Given the description of an element on the screen output the (x, y) to click on. 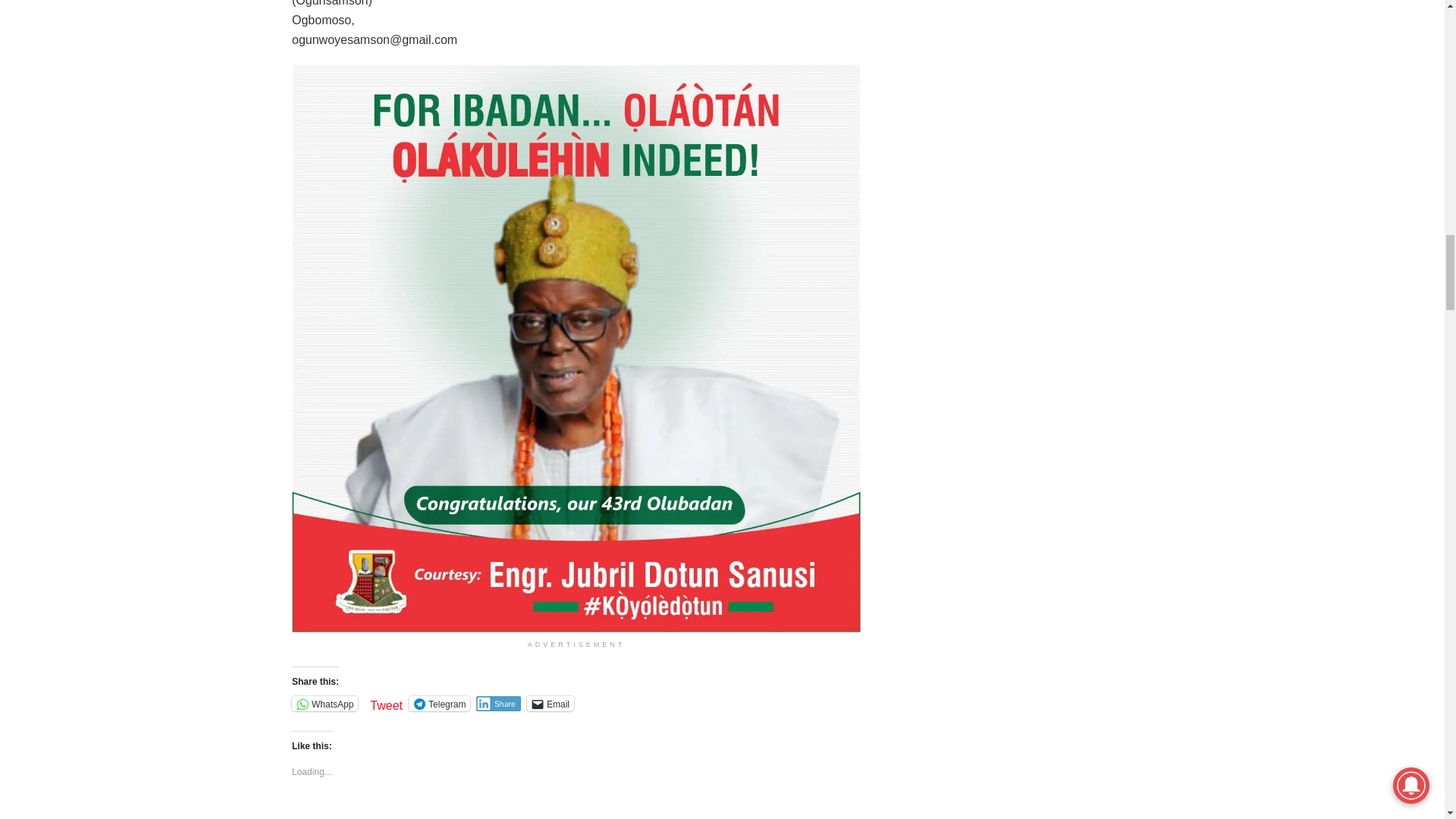
Click to share on WhatsApp (325, 703)
Click to email a link to a friend (550, 703)
Click to share on Telegram (439, 703)
